Given the description of an element on the screen output the (x, y) to click on. 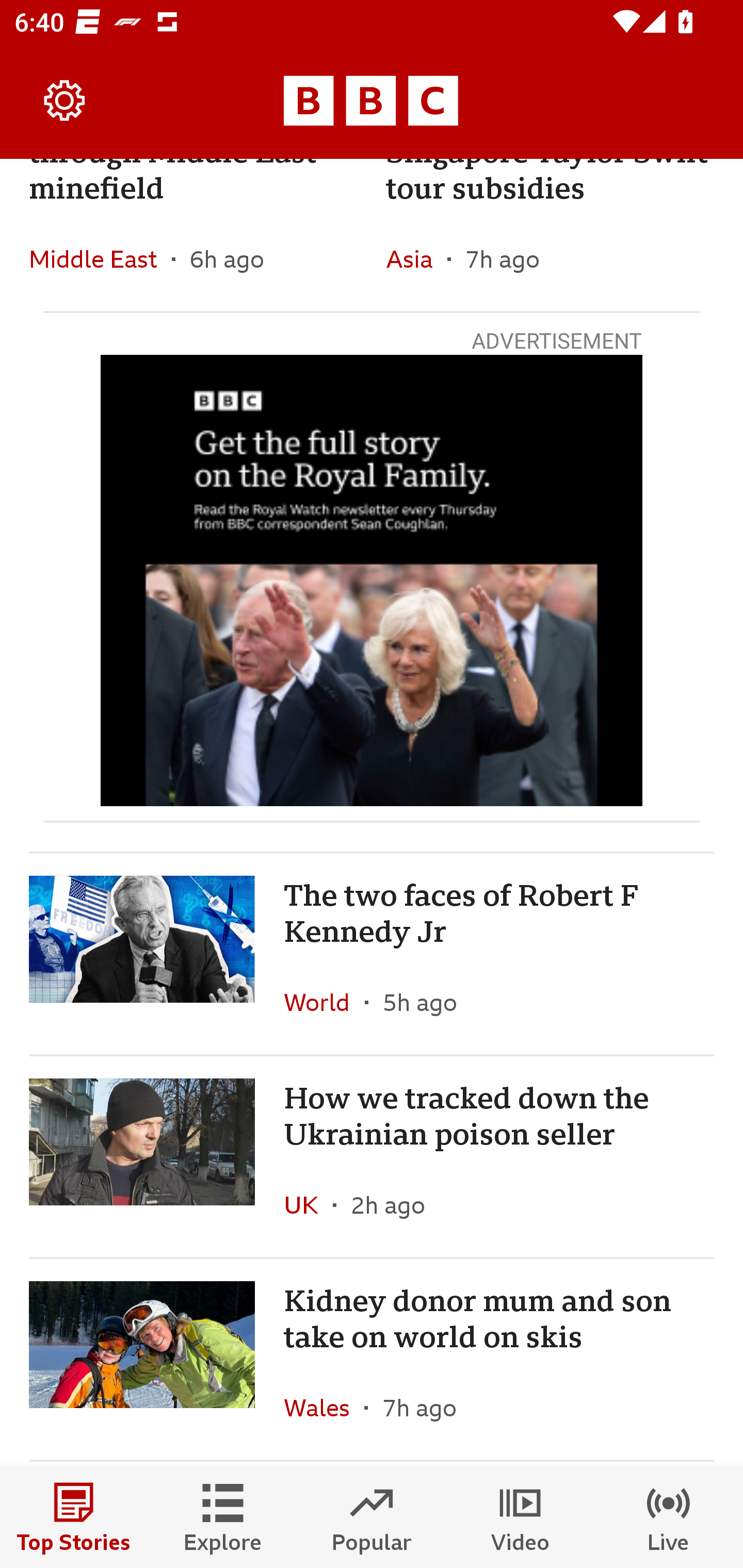
Settings (64, 100)
Middle East In the section Middle East (99, 258)
Asia In the section Asia (416, 258)
World In the section World (323, 1001)
UK In the section UK (307, 1204)
Wales In the section Wales (323, 1406)
Explore (222, 1517)
Popular (371, 1517)
Video (519, 1517)
Live (668, 1517)
